Given the description of an element on the screen output the (x, y) to click on. 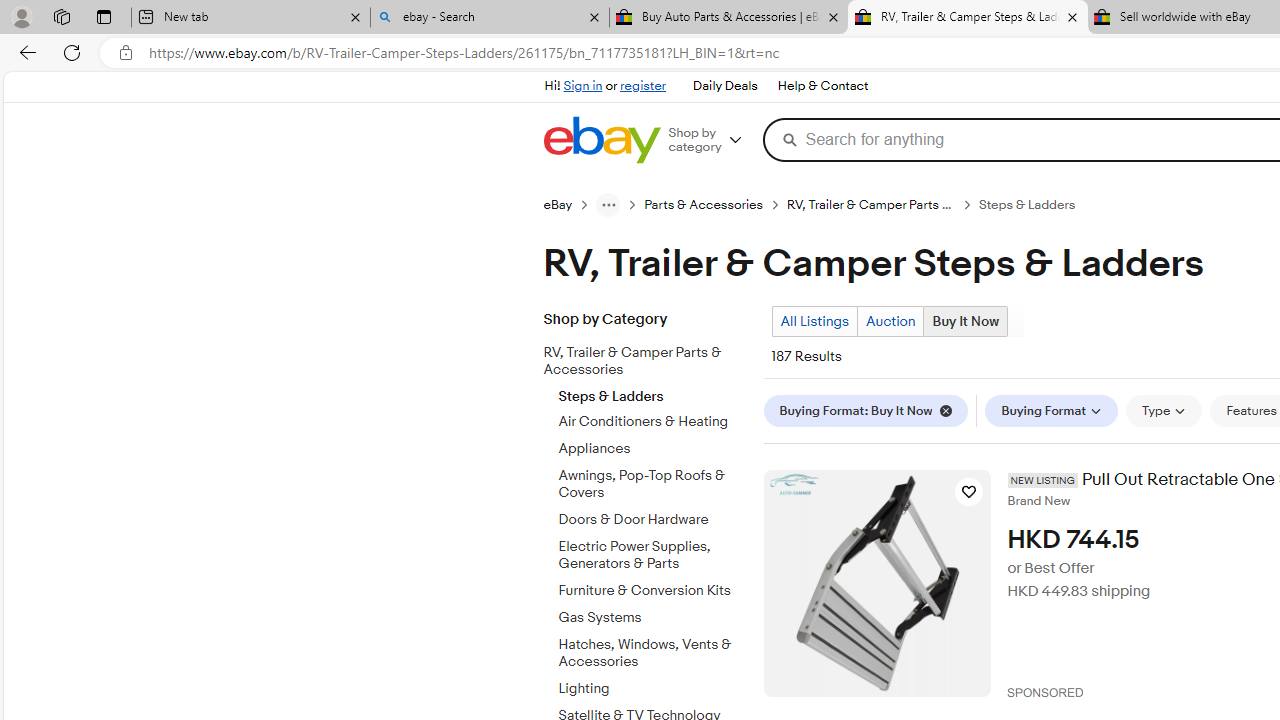
RV, Trailer & Camper Parts & Accessories (653, 358)
Lighting (653, 685)
All Listings (813, 321)
Buy It Now (965, 321)
Shop by category (711, 140)
Auction (890, 321)
Type (1164, 410)
Daily Deals (724, 85)
Help & Contact (821, 85)
breadcrumb menu (608, 204)
RV, Trailer & Camper Parts & Accessories (637, 362)
Awnings, Pop-Top Roofs & Covers (653, 485)
eBay (569, 204)
